Given the description of an element on the screen output the (x, y) to click on. 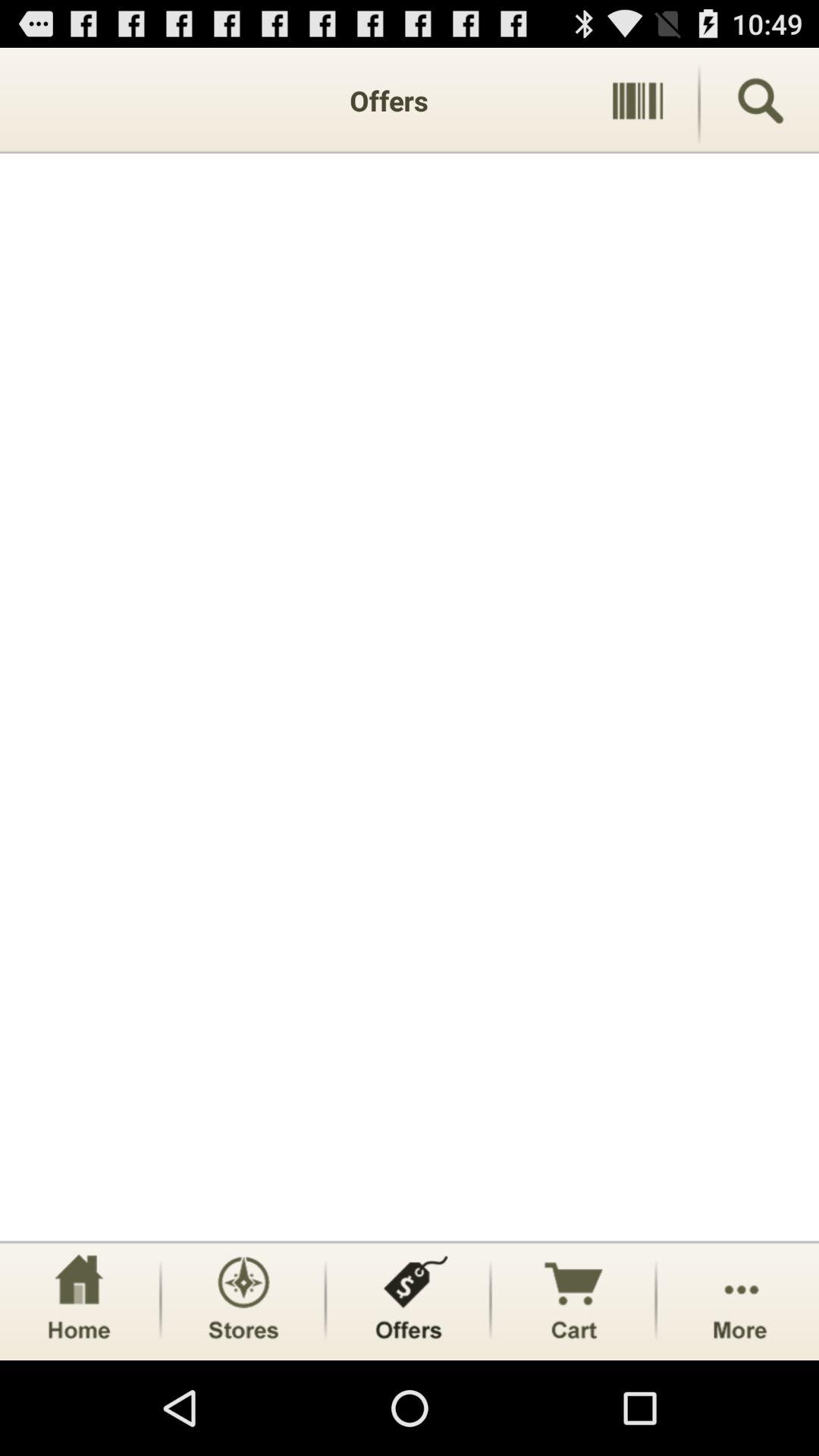
open item next to offers app (637, 100)
